Given the description of an element on the screen output the (x, y) to click on. 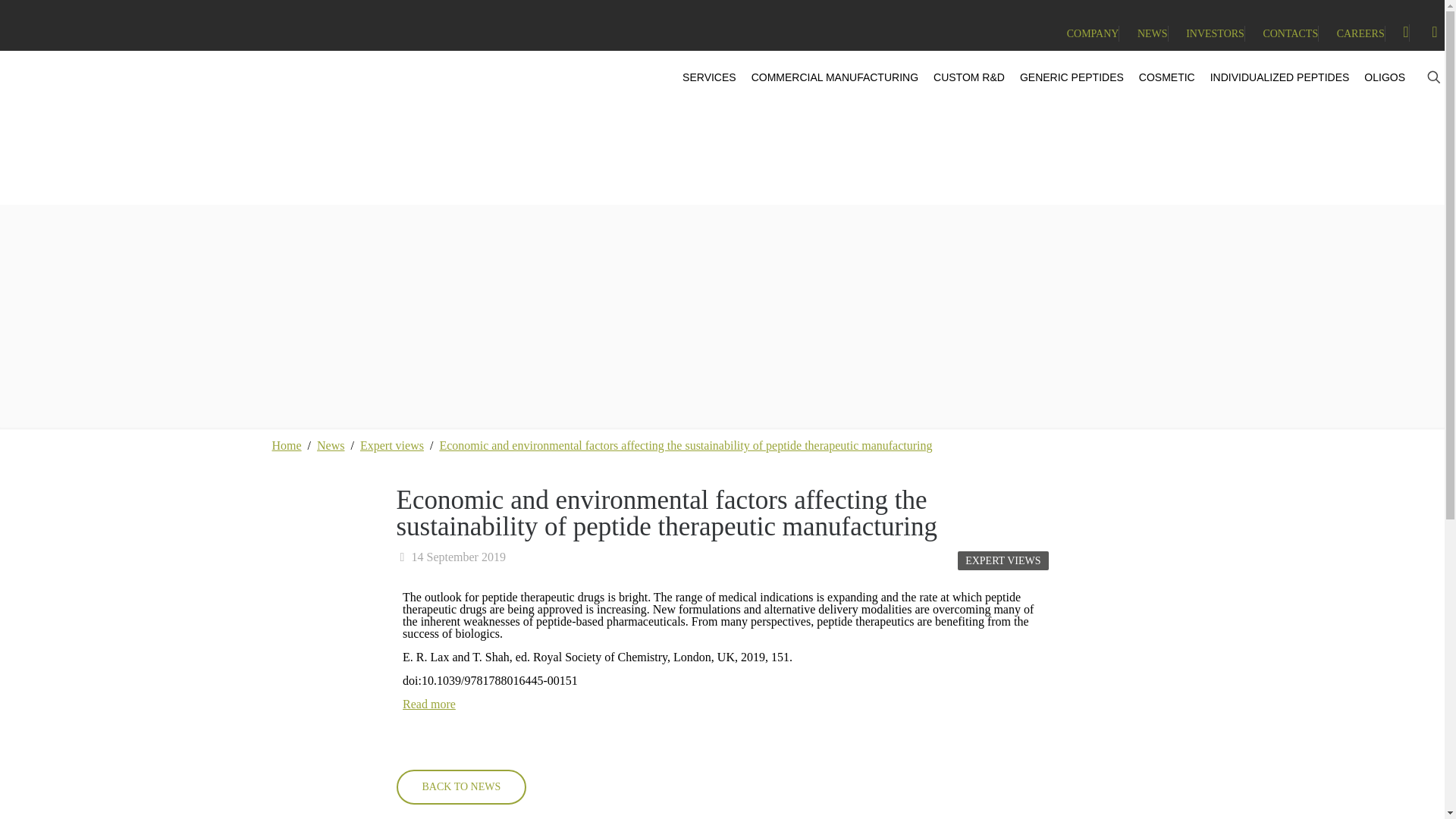
NEWS (1152, 33)
CONTACTS (1289, 33)
SERVICES (701, 77)
INVESTORS (1215, 33)
CAREERS (1360, 33)
Polypeptide (62, 56)
INDIVIDUALIZED PEPTIDES (1272, 77)
GENERIC PEPTIDES (1064, 77)
COSMETIC (1159, 77)
OLIGOS (1377, 77)
COMPANY (1093, 33)
COMMERCIAL MANUFACTURING (827, 77)
